Given the description of an element on the screen output the (x, y) to click on. 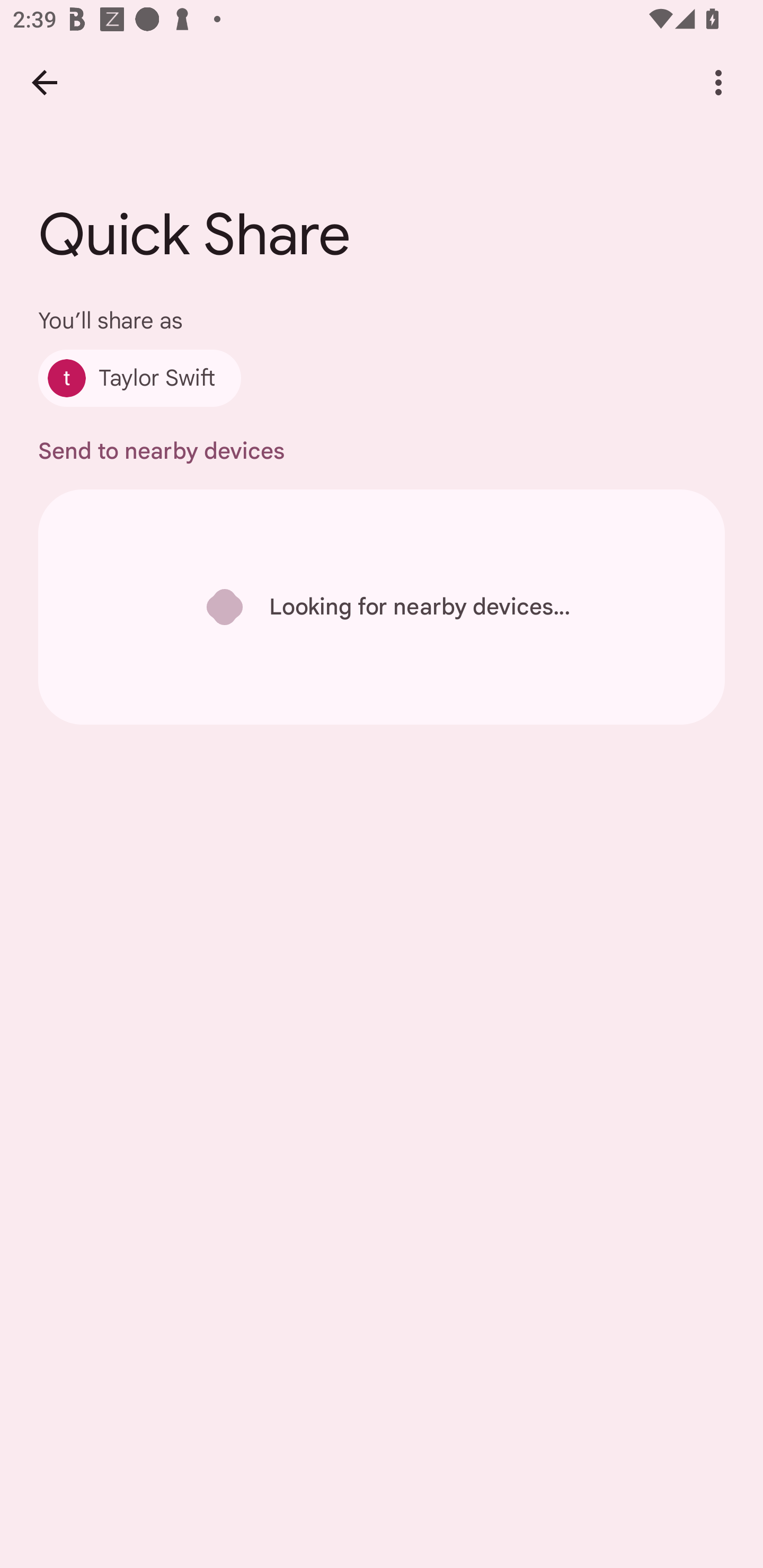
Back (44, 81)
More (718, 81)
Taylor Swift (139, 378)
